Given the description of an element on the screen output the (x, y) to click on. 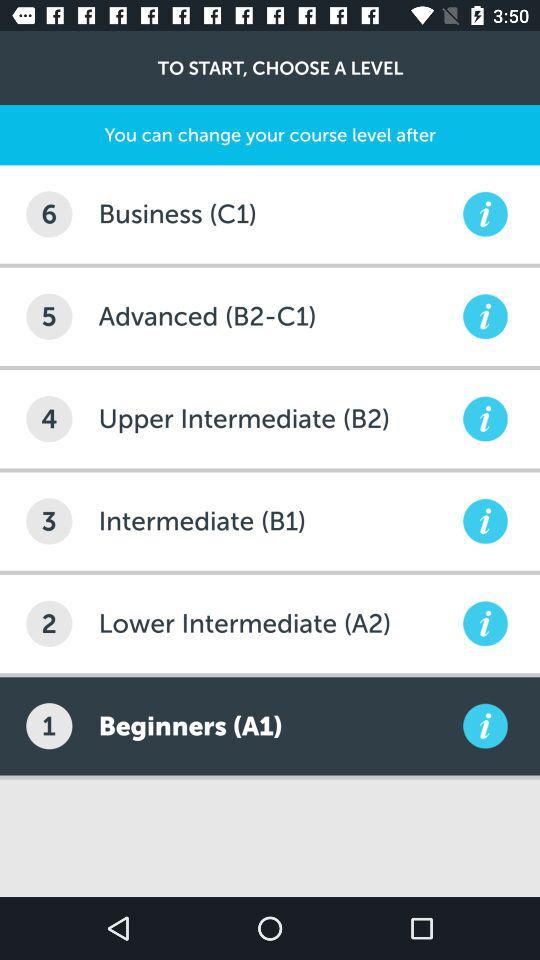
help option (485, 521)
